Given the description of an element on the screen output the (x, y) to click on. 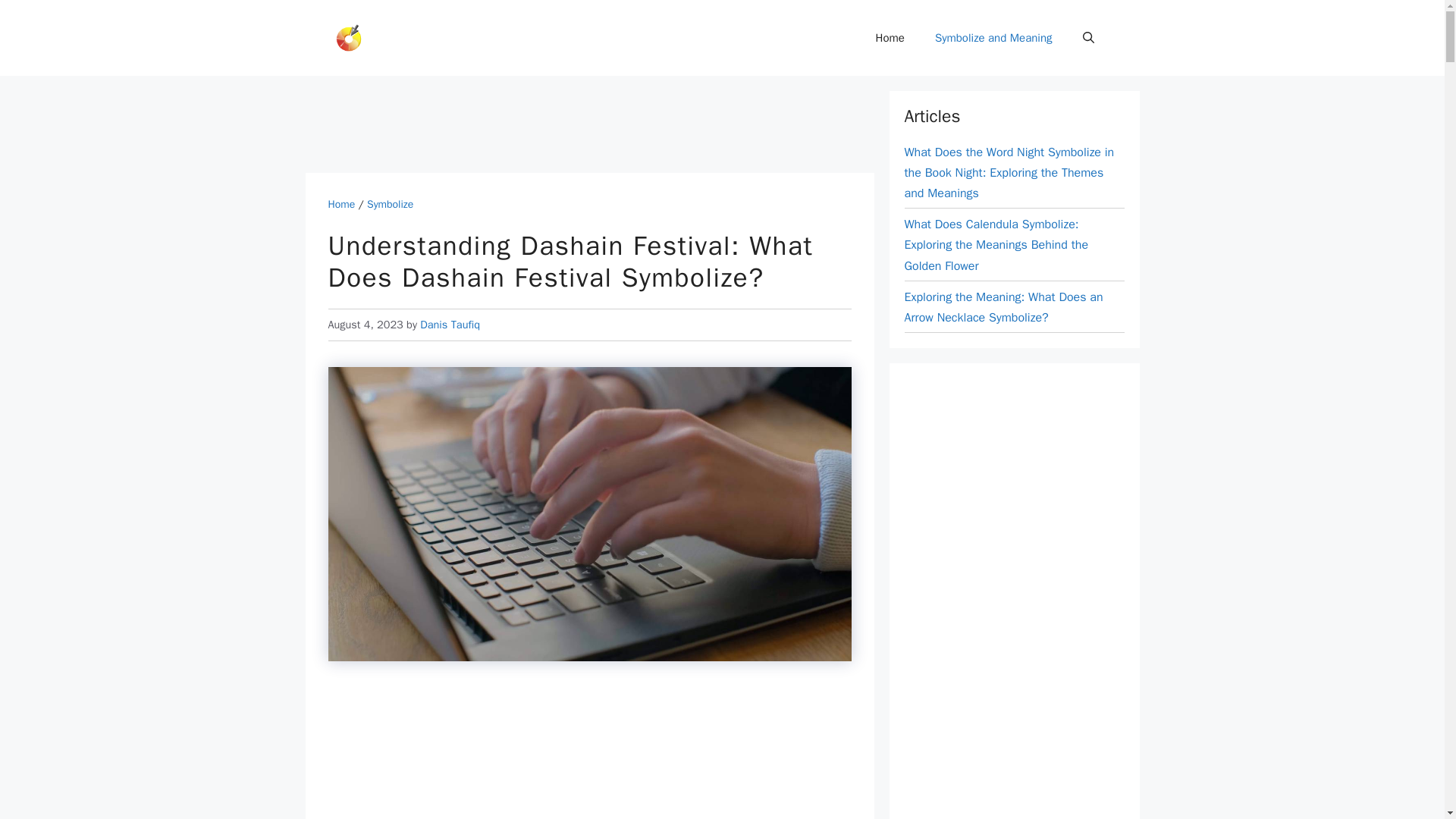
View all posts by Danis Taufiq (450, 324)
Home (890, 37)
Symbolize (389, 204)
Advertisement (580, 124)
Symbolize and Meaning (993, 37)
Home (341, 204)
Advertisement (589, 753)
Danis Taufiq (450, 324)
